Given the description of an element on the screen output the (x, y) to click on. 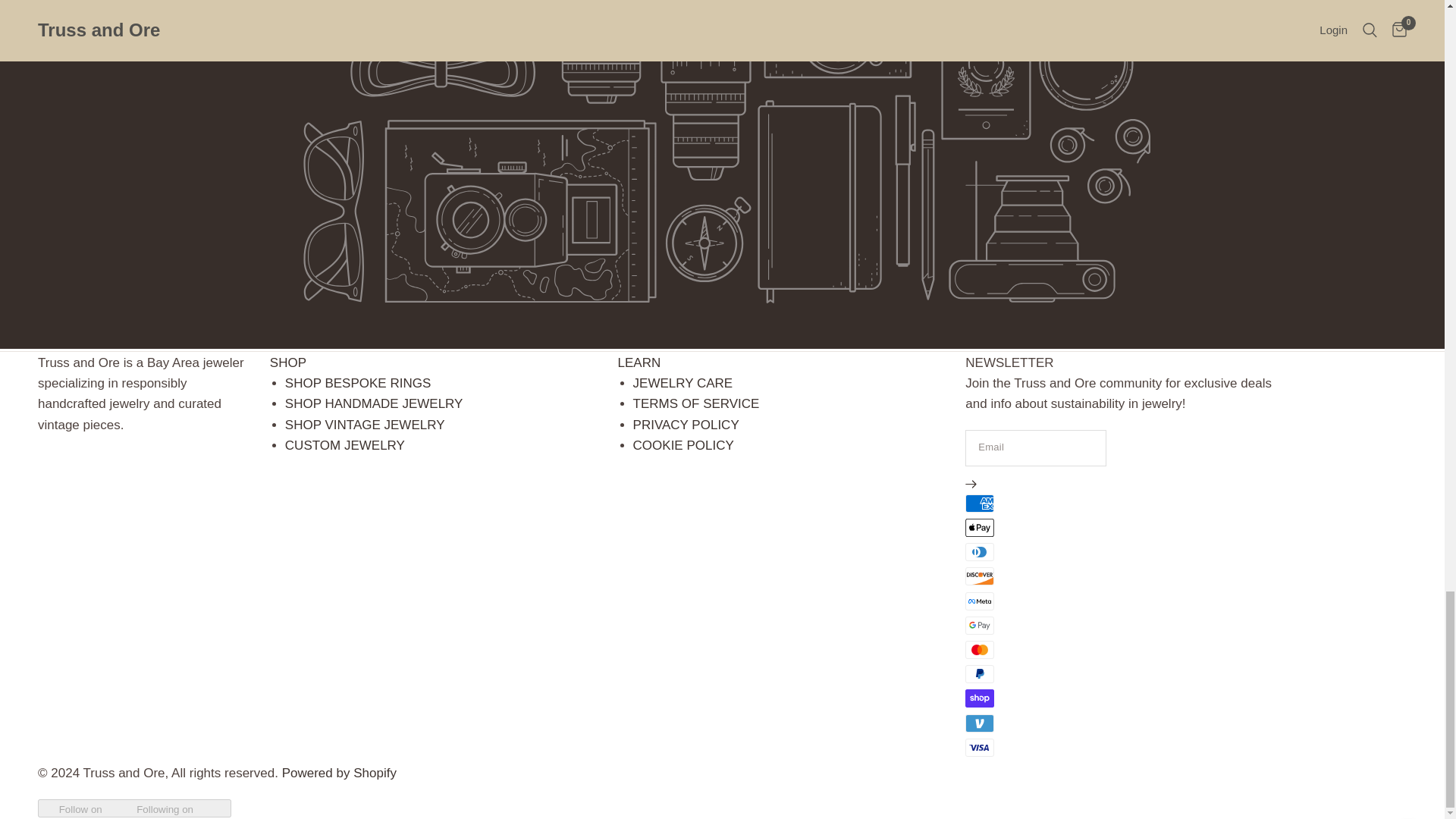
SHOP (287, 362)
LEARN (639, 362)
COOKIE POLICY (683, 445)
PRIVACY POLICY (686, 424)
Apple Pay (979, 527)
CUSTOM JEWELRY (344, 445)
PayPal (979, 674)
SHOP BESPOKE RINGS (357, 382)
CUSTOM JEWELRY (344, 445)
TERMS OF SERVICE (696, 403)
JEWELRY CARE (683, 382)
Meta Pay (979, 601)
SHOP VINTAGE JEWELRY (365, 424)
SHOP BESPOKE RINGS (357, 382)
Diners Club (979, 551)
